Given the description of an element on the screen output the (x, y) to click on. 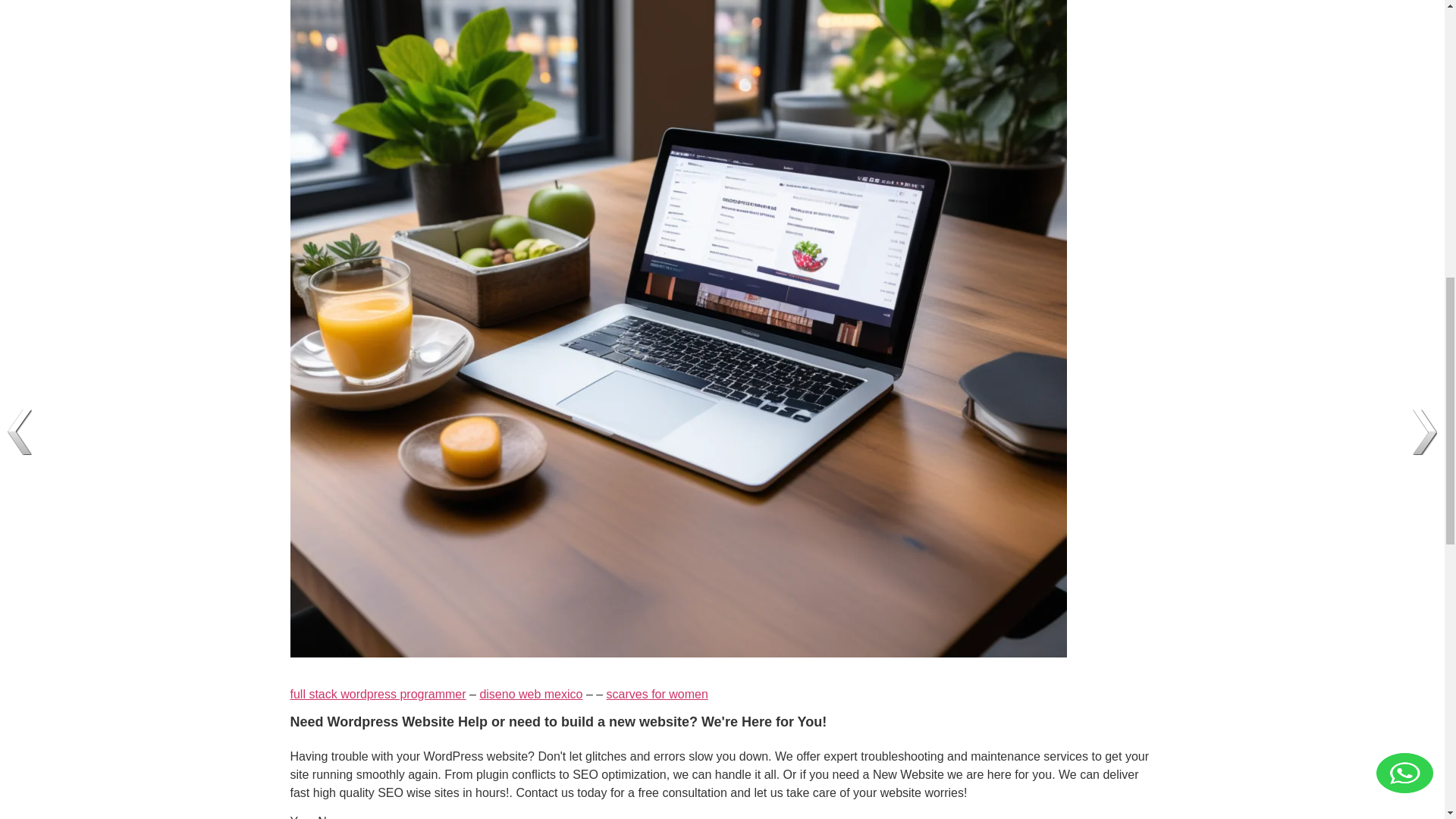
diseno web mexico (530, 694)
scarves for women (657, 694)
full stack wordpress programmer (377, 694)
